Given the description of an element on the screen output the (x, y) to click on. 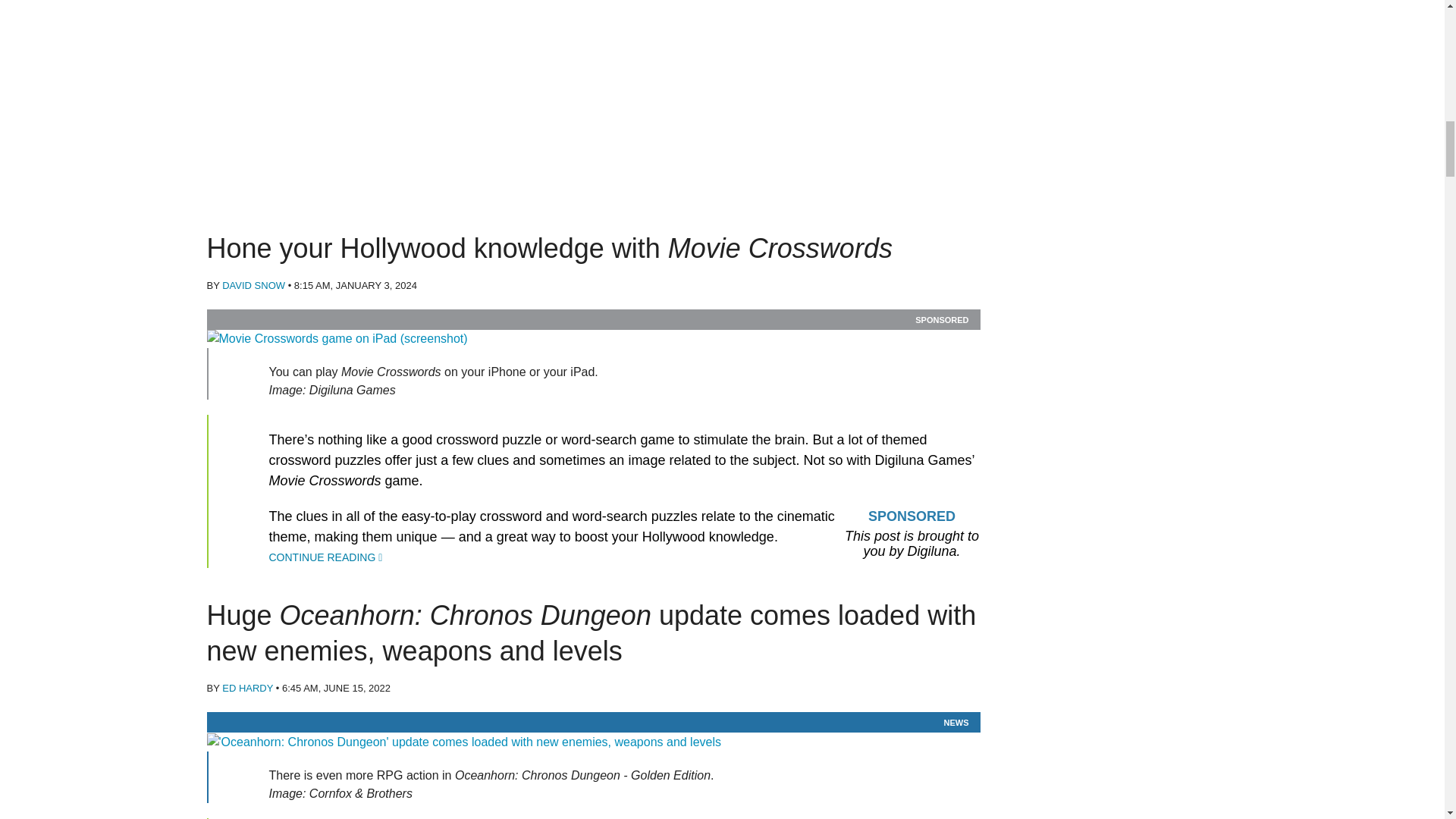
Posts by David Snow (253, 285)
